Given the description of an element on the screen output the (x, y) to click on. 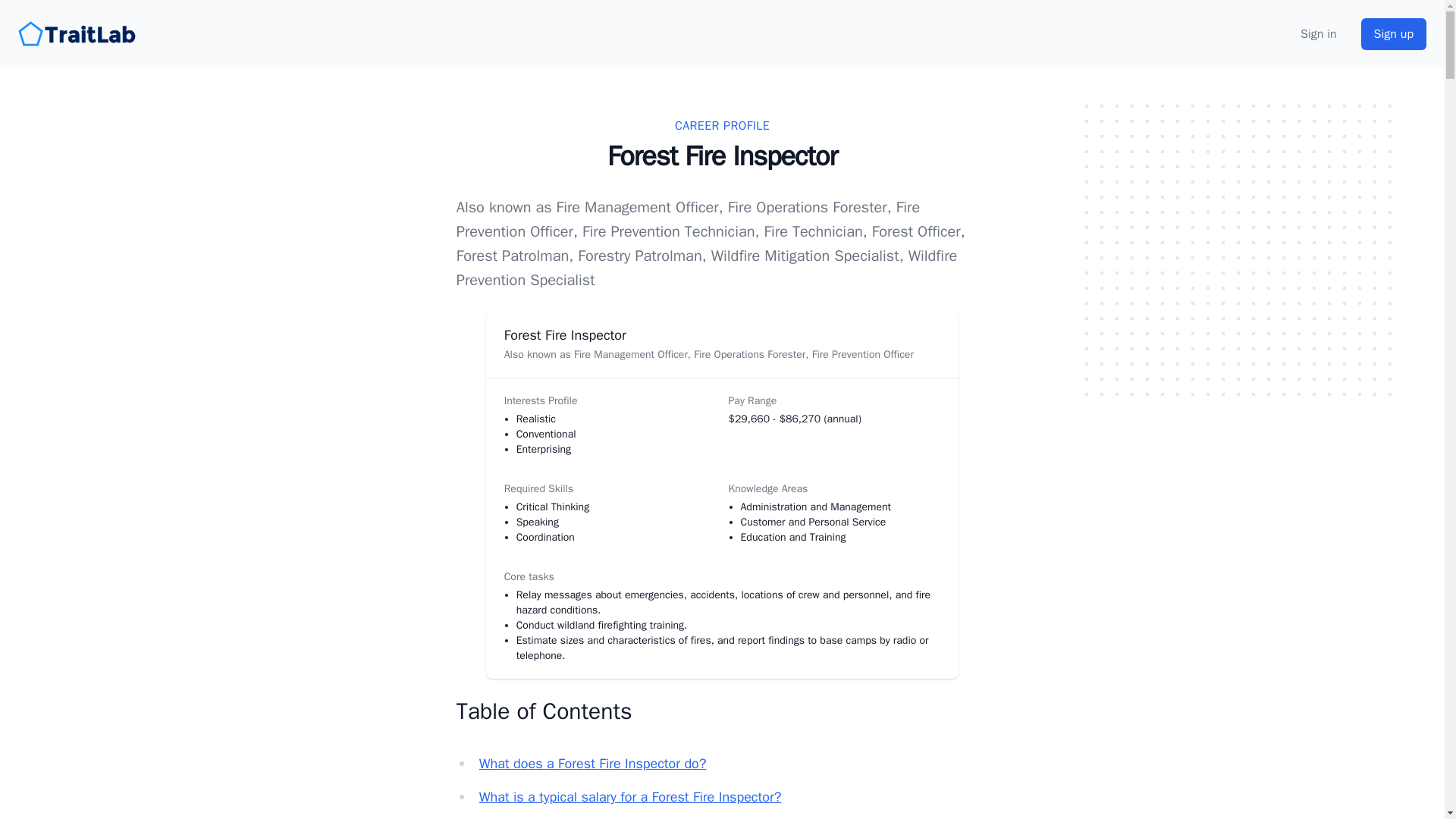
What is a typical salary for a Forest Fire Inspector? (630, 796)
What does a Forest Fire Inspector do? (592, 763)
Sign in (1318, 34)
Sign up (1393, 33)
TraitLab (78, 33)
